Given the description of an element on the screen output the (x, y) to click on. 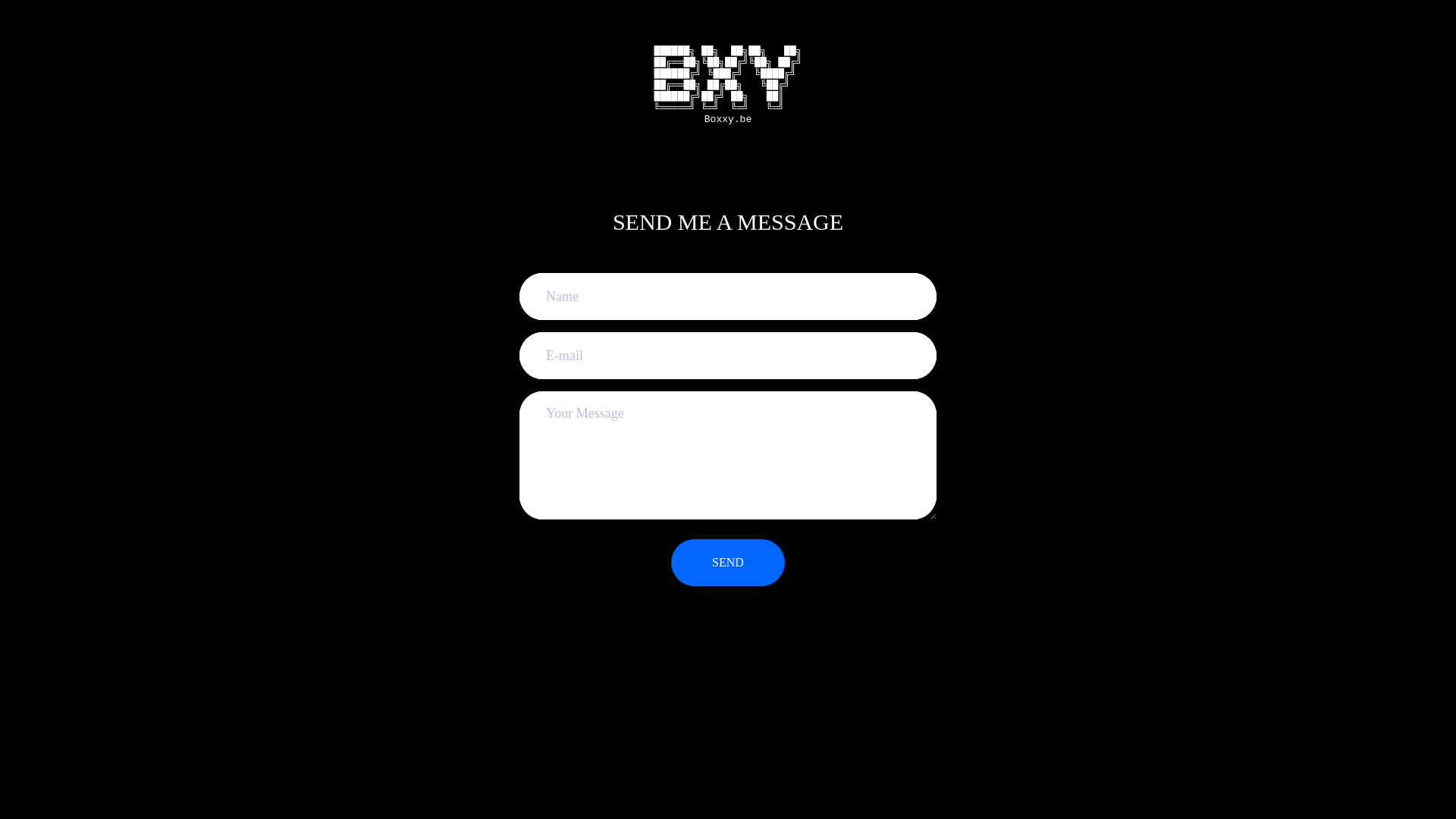
SEND Element type: text (727, 562)
